Given the description of an element on the screen output the (x, y) to click on. 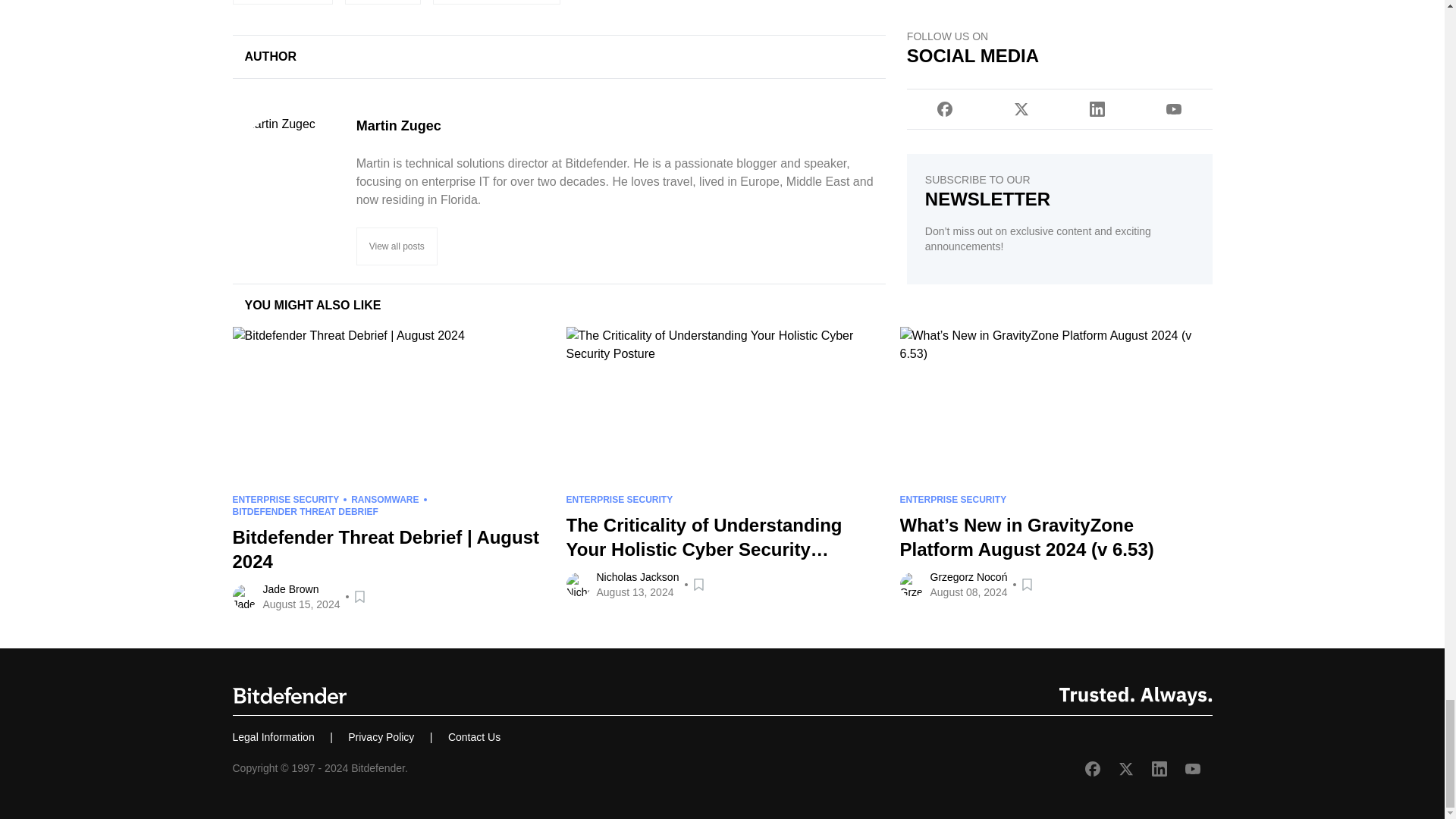
ransomware (382, 2)
Enterprise Security (281, 2)
enterprise security (281, 2)
Martin Zugec (620, 125)
View all posts (397, 246)
bitdefender threat debrief (496, 2)
